Given the description of an element on the screen output the (x, y) to click on. 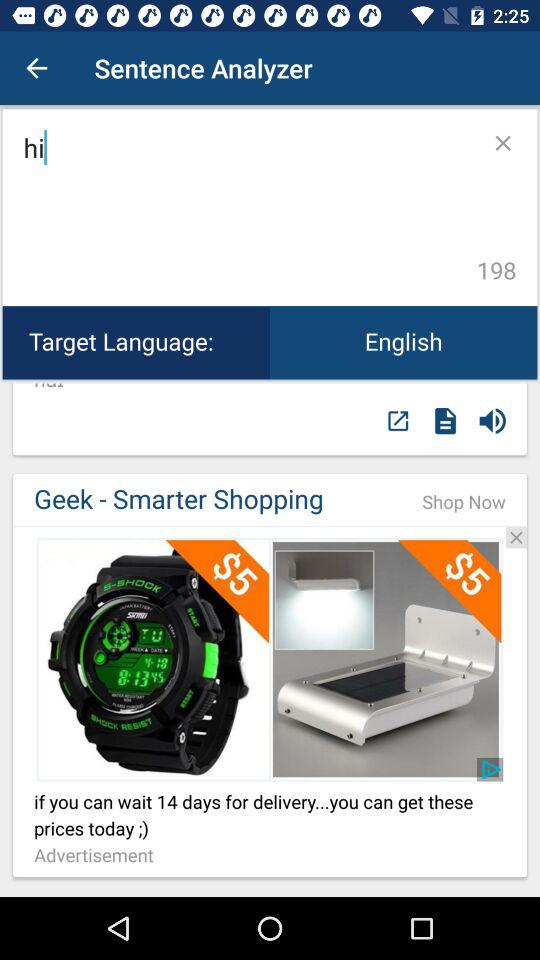
select the icon next to the geek - smarter shopping item (463, 502)
